Given the description of an element on the screen output the (x, y) to click on. 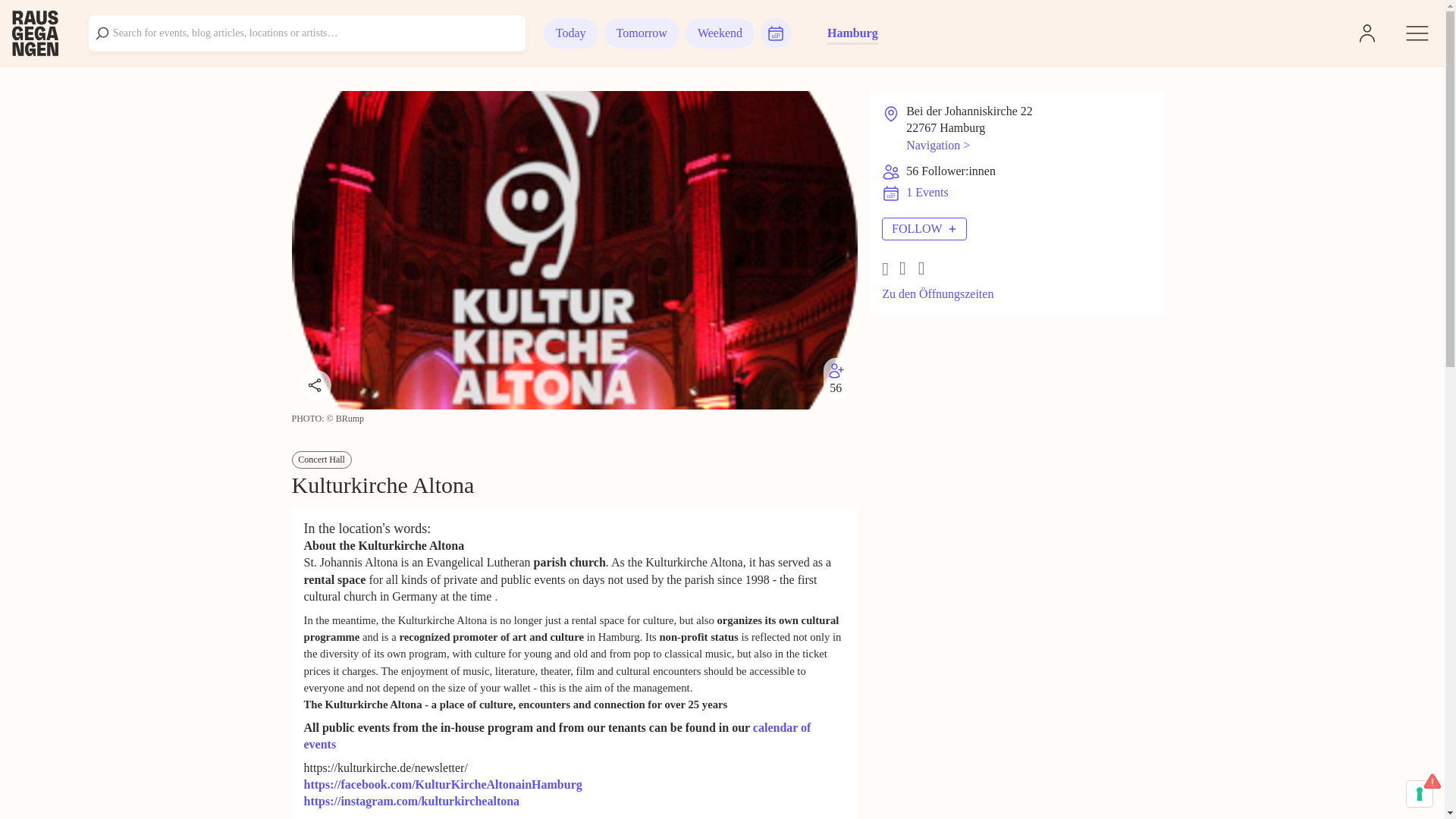
Hamburg (852, 33)
Weekend (719, 33)
Today (570, 33)
Tomorrow (641, 33)
